Given the description of an element on the screen output the (x, y) to click on. 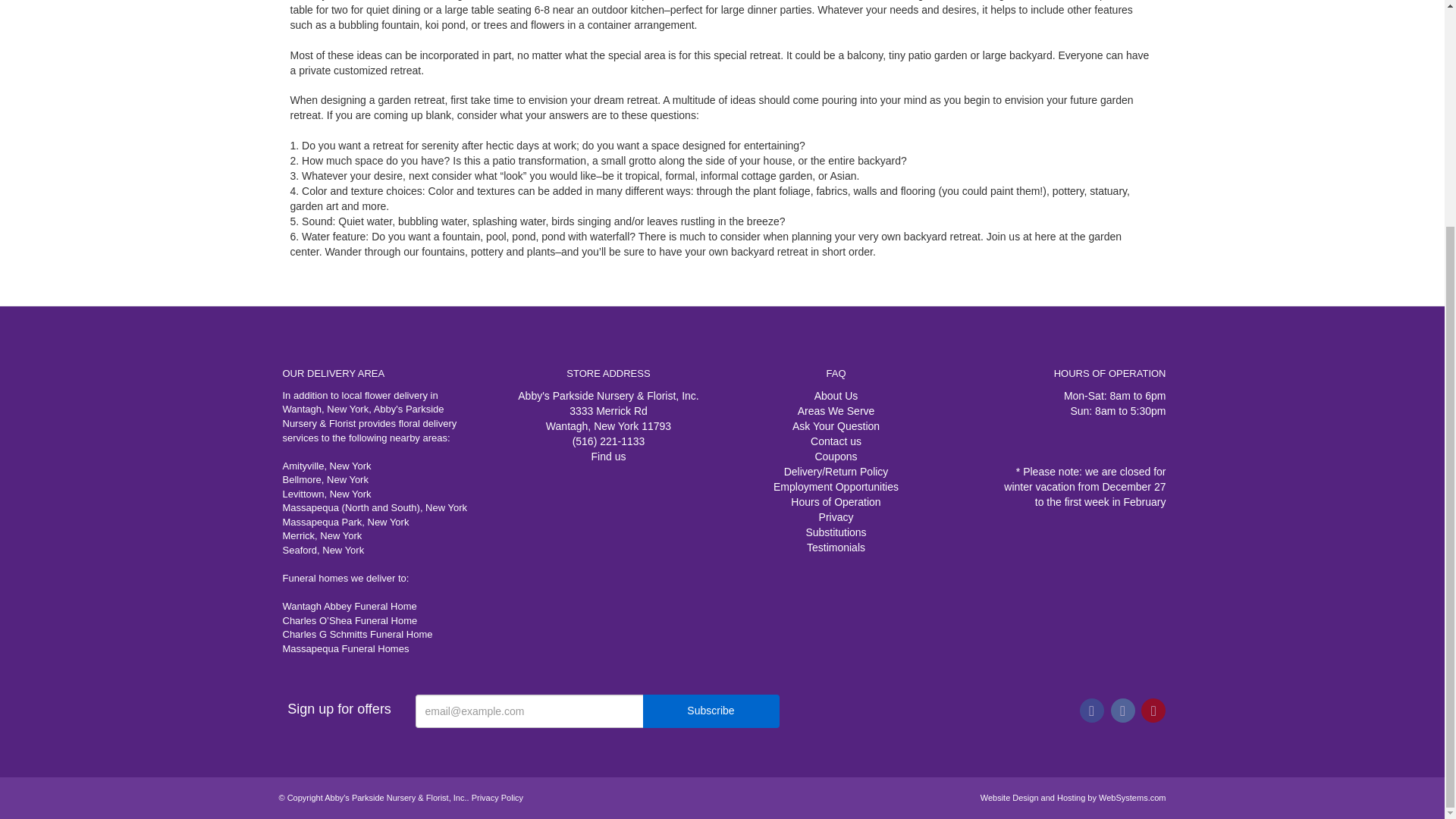
About Us (836, 395)
Areas We Serve (836, 410)
Subscribe (710, 711)
Find us (608, 456)
